Given the description of an element on the screen output the (x, y) to click on. 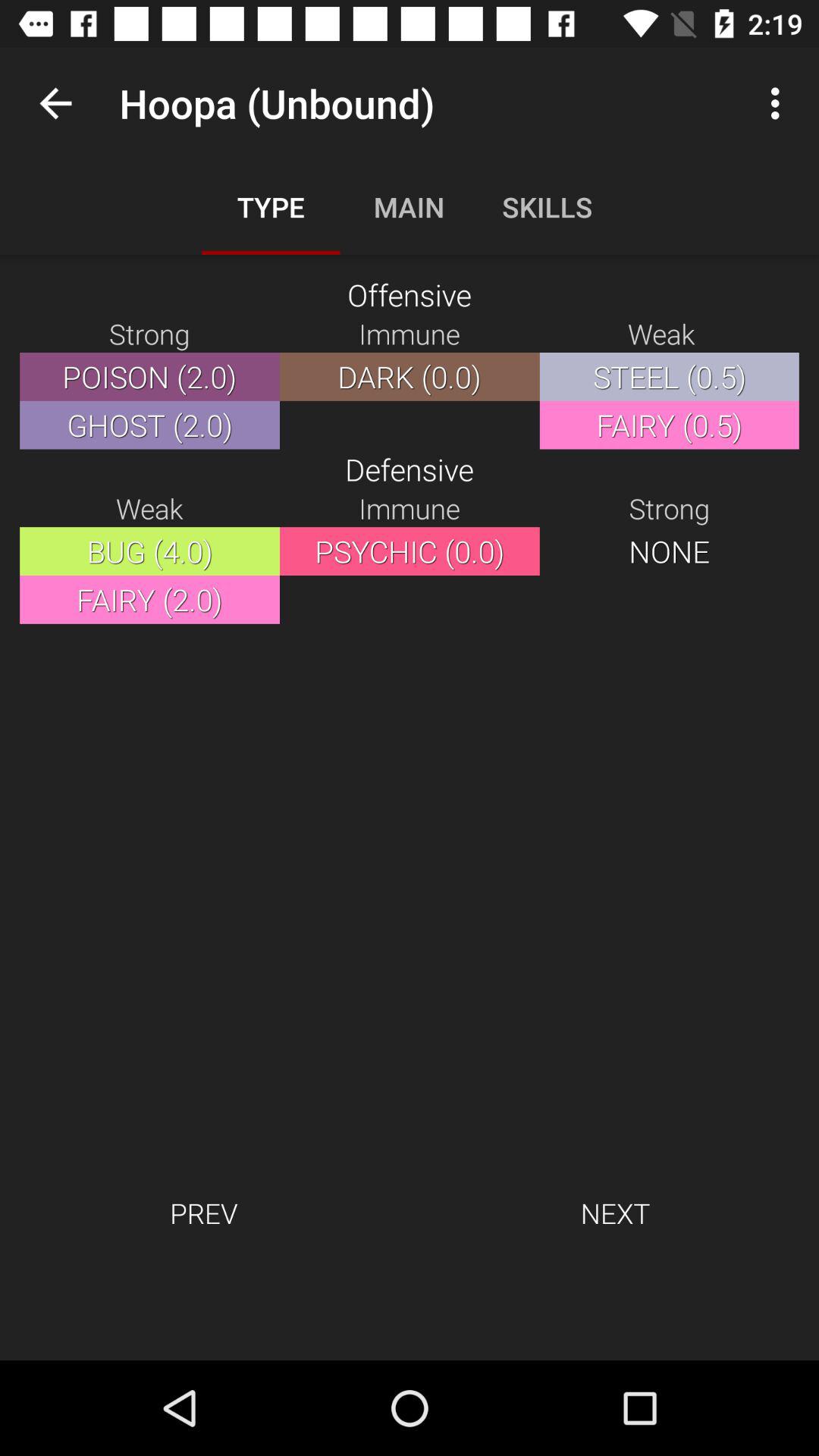
choose app next to the hoopa (unbound) app (55, 103)
